Given the description of an element on the screen output the (x, y) to click on. 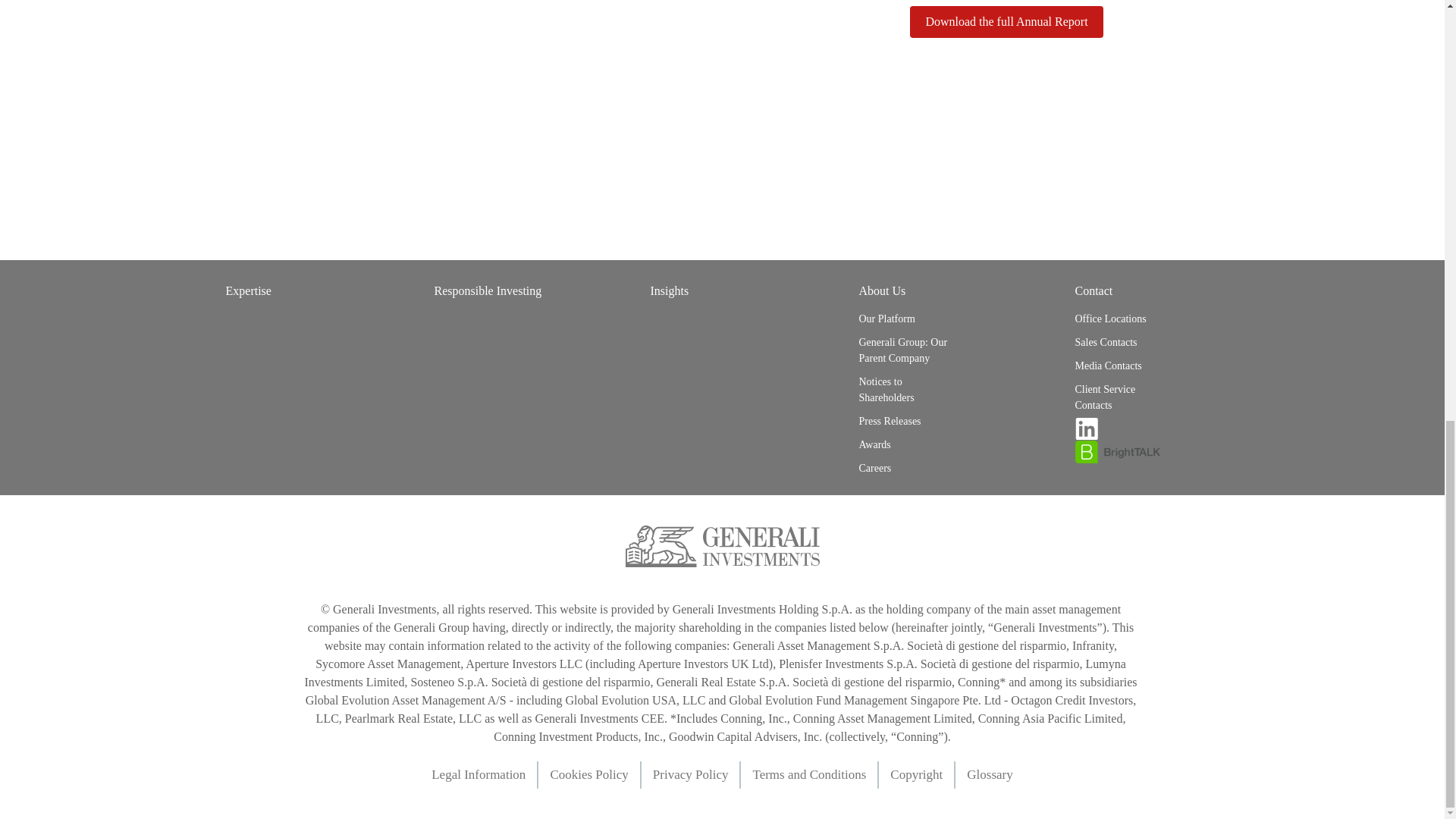
Generali Group: Our Parent Company (904, 350)
Responsible Investing (487, 291)
Terms and Conditions (815, 774)
Privacy Policy (696, 774)
Legal Information (484, 774)
Contact (1094, 291)
Press Releases (904, 421)
Our Platform (904, 318)
Download the full Annual Report (1006, 21)
Expertise (247, 291)
Copyright (922, 774)
Sales Contacts (1120, 341)
Insights (669, 291)
Glossary (988, 774)
Media Contacts (1120, 365)
